Given the description of an element on the screen output the (x, y) to click on. 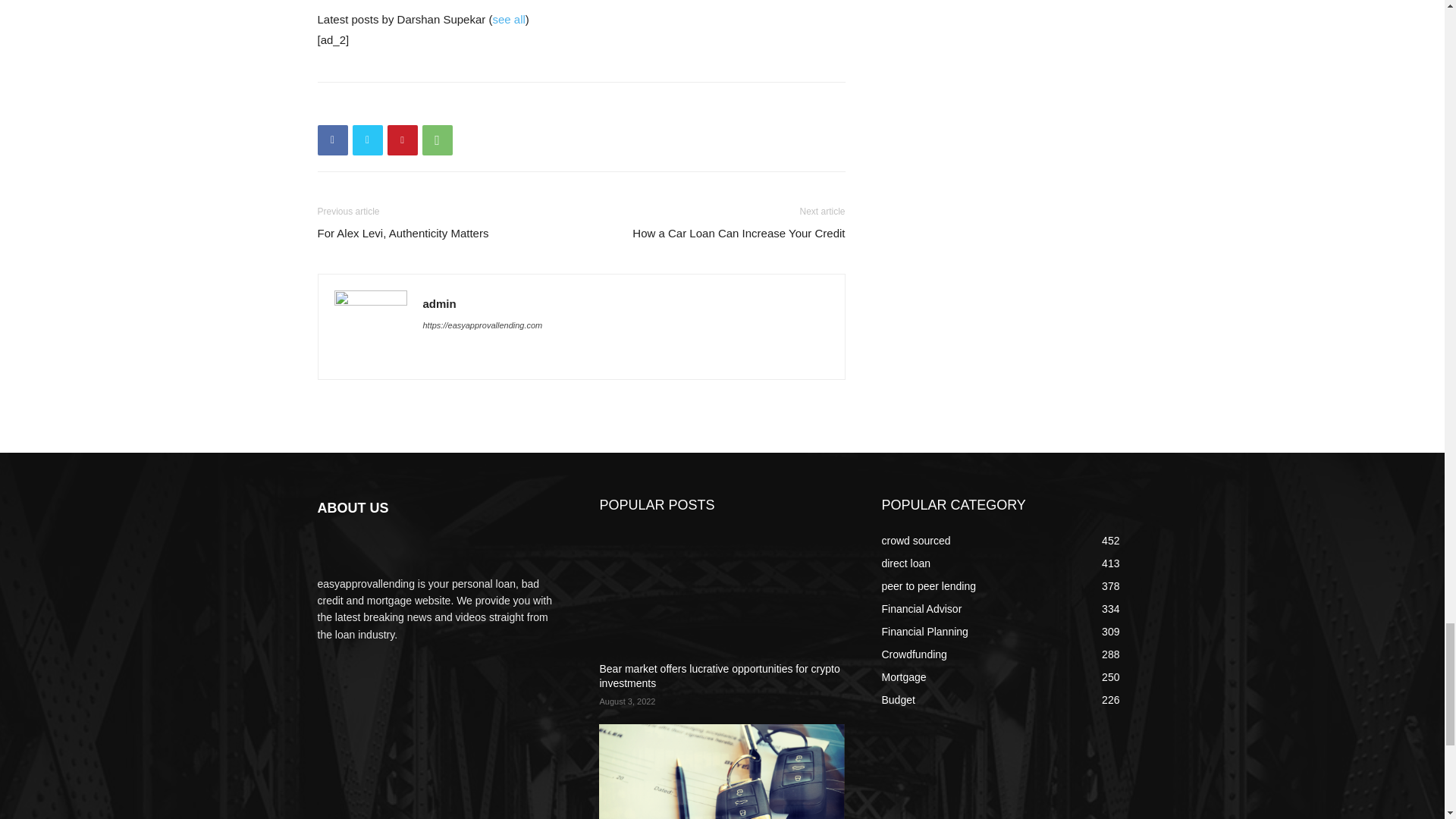
bottomFacebookLike (430, 106)
Facebook (332, 140)
